Given the description of an element on the screen output the (x, y) to click on. 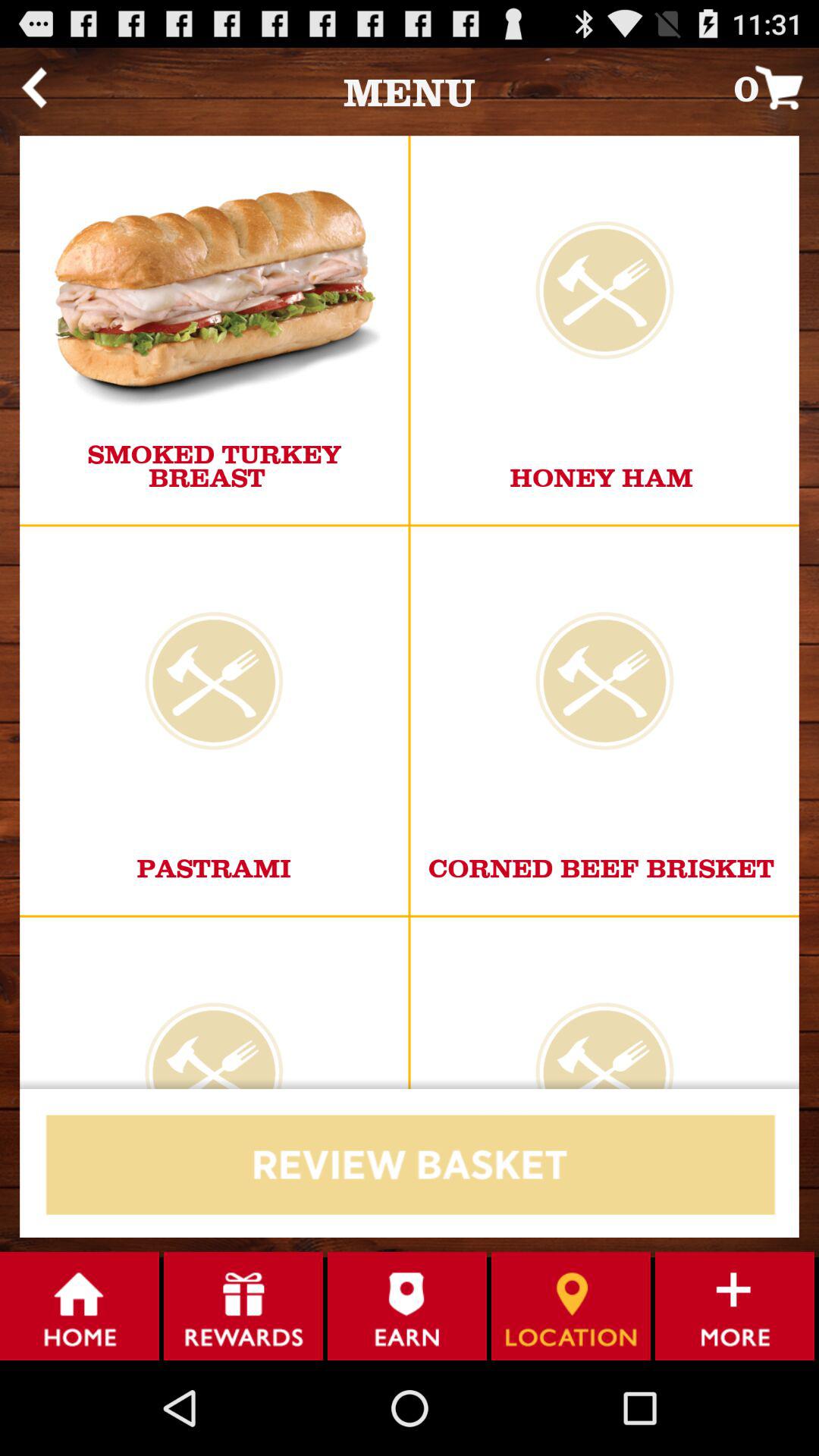
open the icon to the right of the menu app (776, 87)
